Given the description of an element on the screen output the (x, y) to click on. 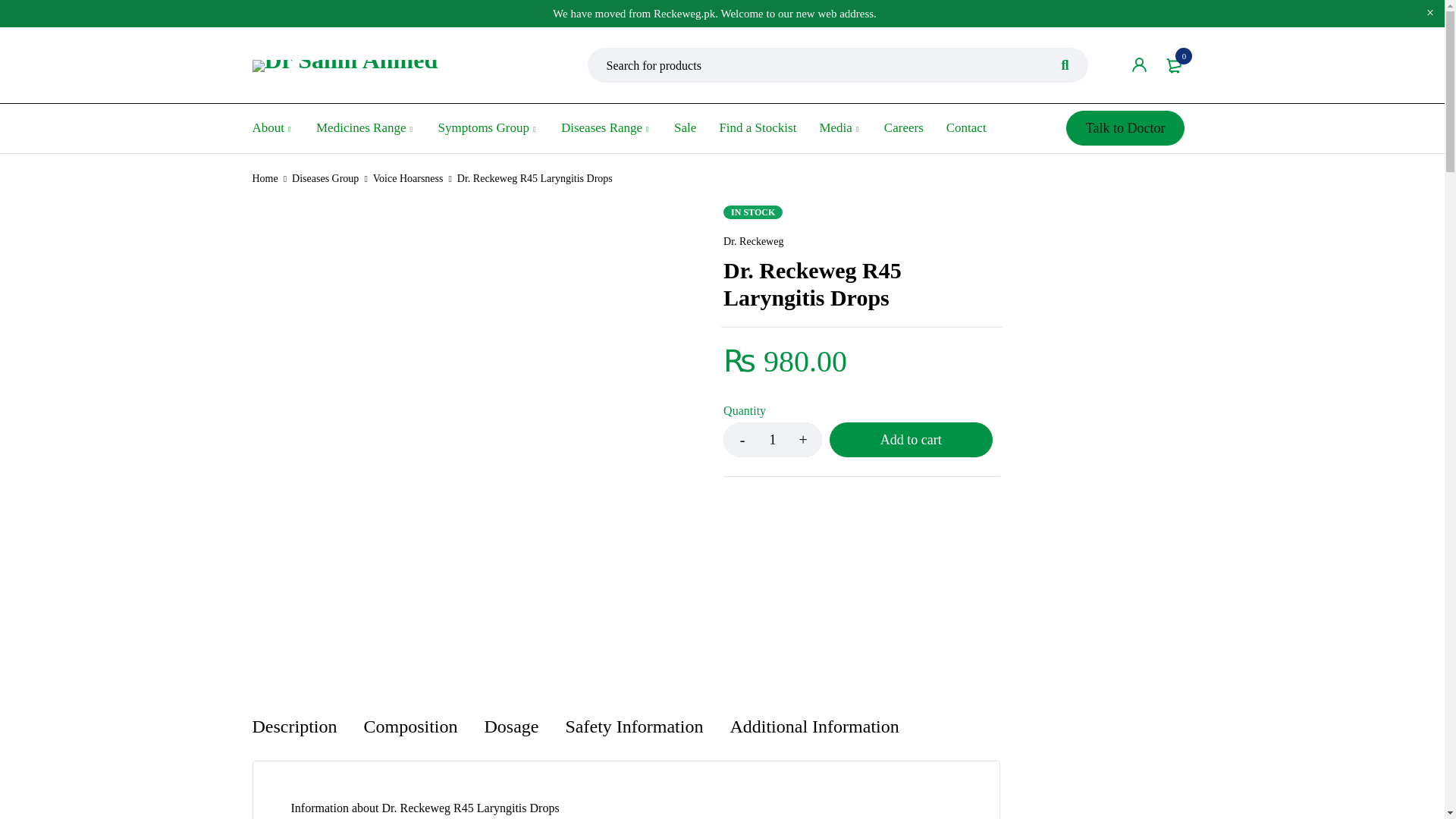
View your shopping cart (1174, 64)
Dr Salim Ahmed (344, 65)
Search (1064, 64)
Find a Stockist (757, 127)
- (742, 439)
1 (772, 439)
